Given the description of an element on the screen output the (x, y) to click on. 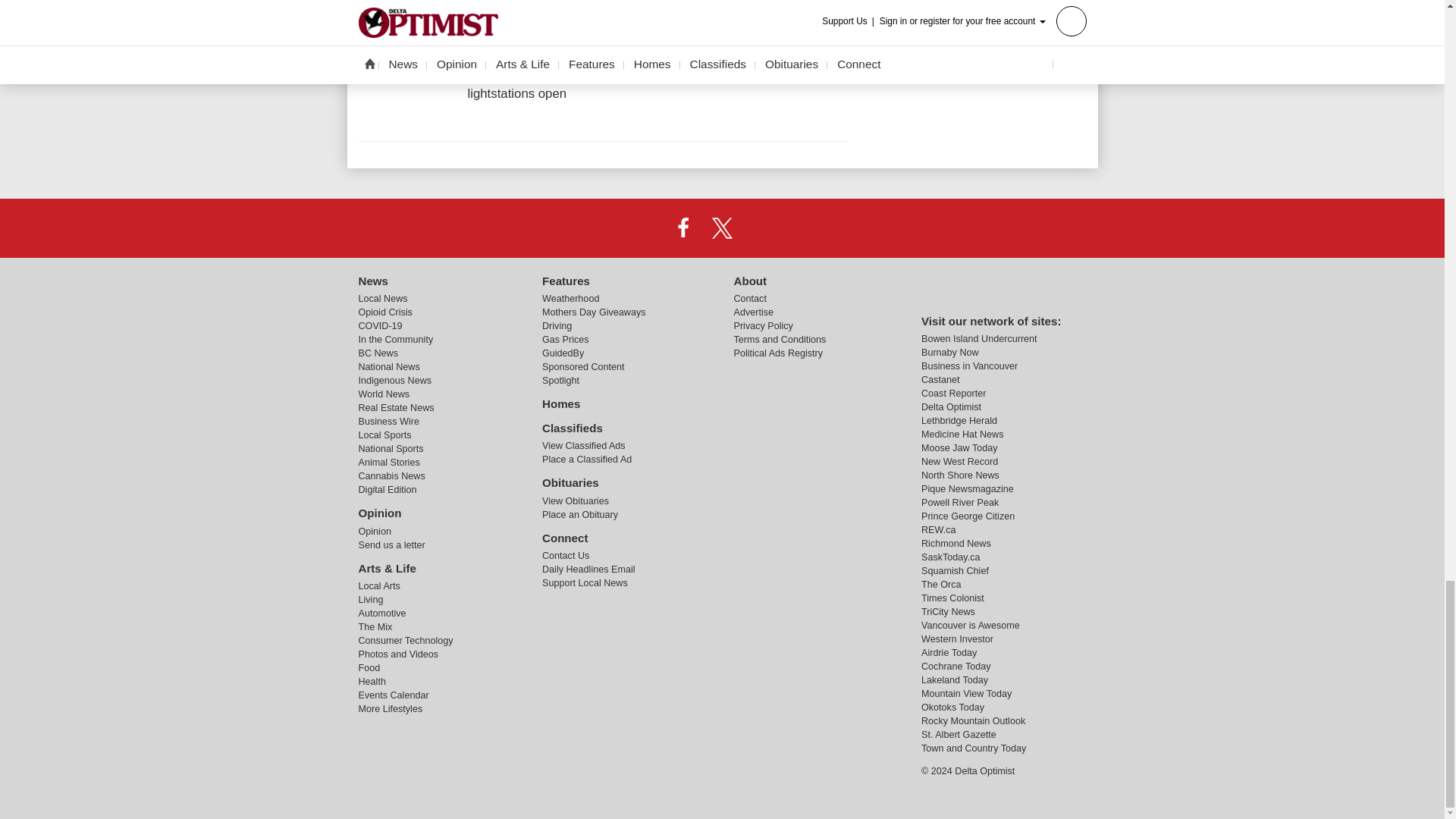
X (721, 226)
Instagram (760, 226)
Facebook (683, 226)
